Given the description of an element on the screen output the (x, y) to click on. 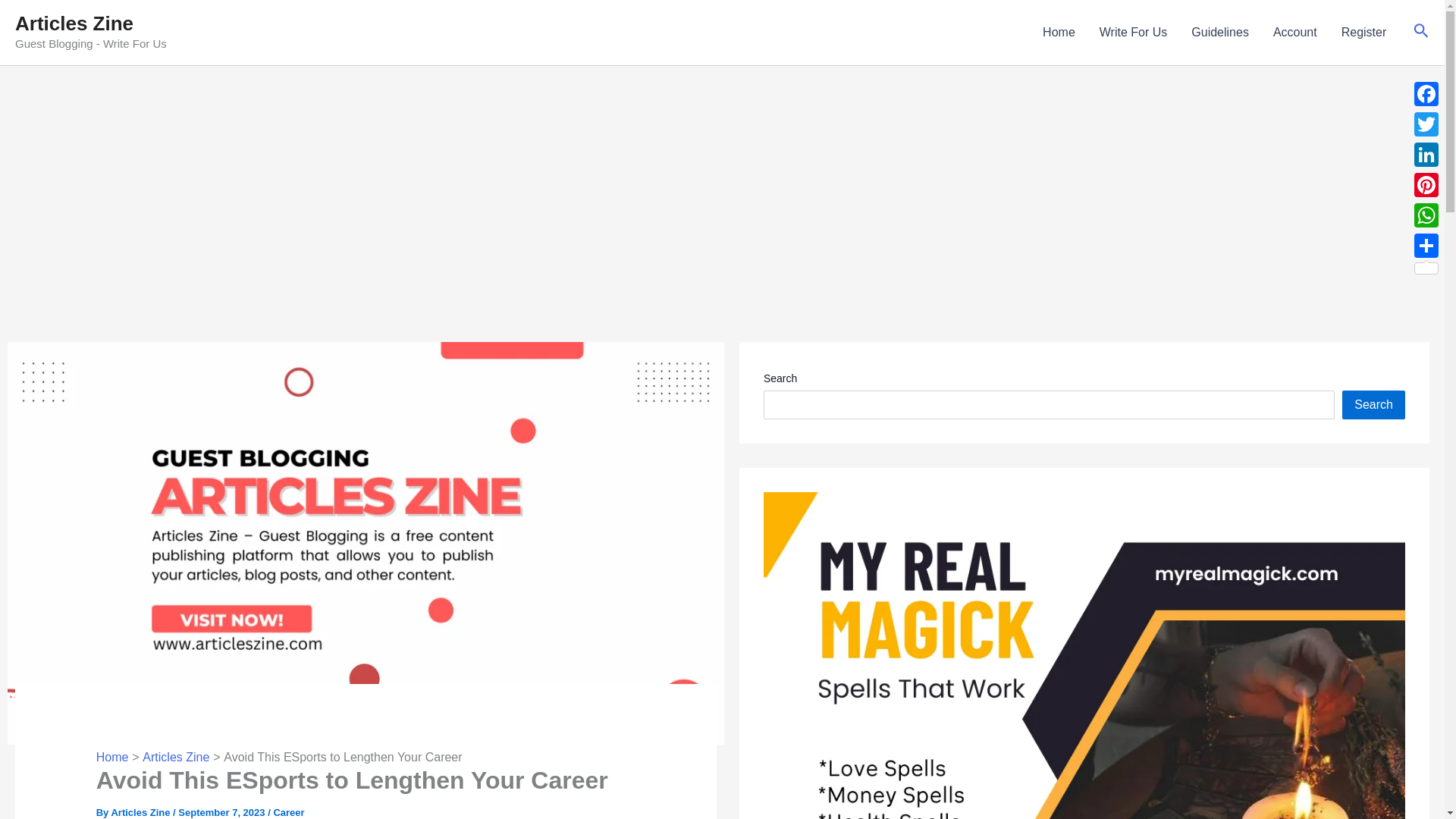
Write For Us (1133, 32)
Home (1058, 32)
Articles Zine (175, 757)
Home (112, 757)
View all posts by Articles Zine (141, 812)
Articles Zine (141, 812)
Articles Zine (73, 23)
Register (1364, 32)
Account (1294, 32)
Guidelines (1219, 32)
Career (288, 812)
